Given the description of an element on the screen output the (x, y) to click on. 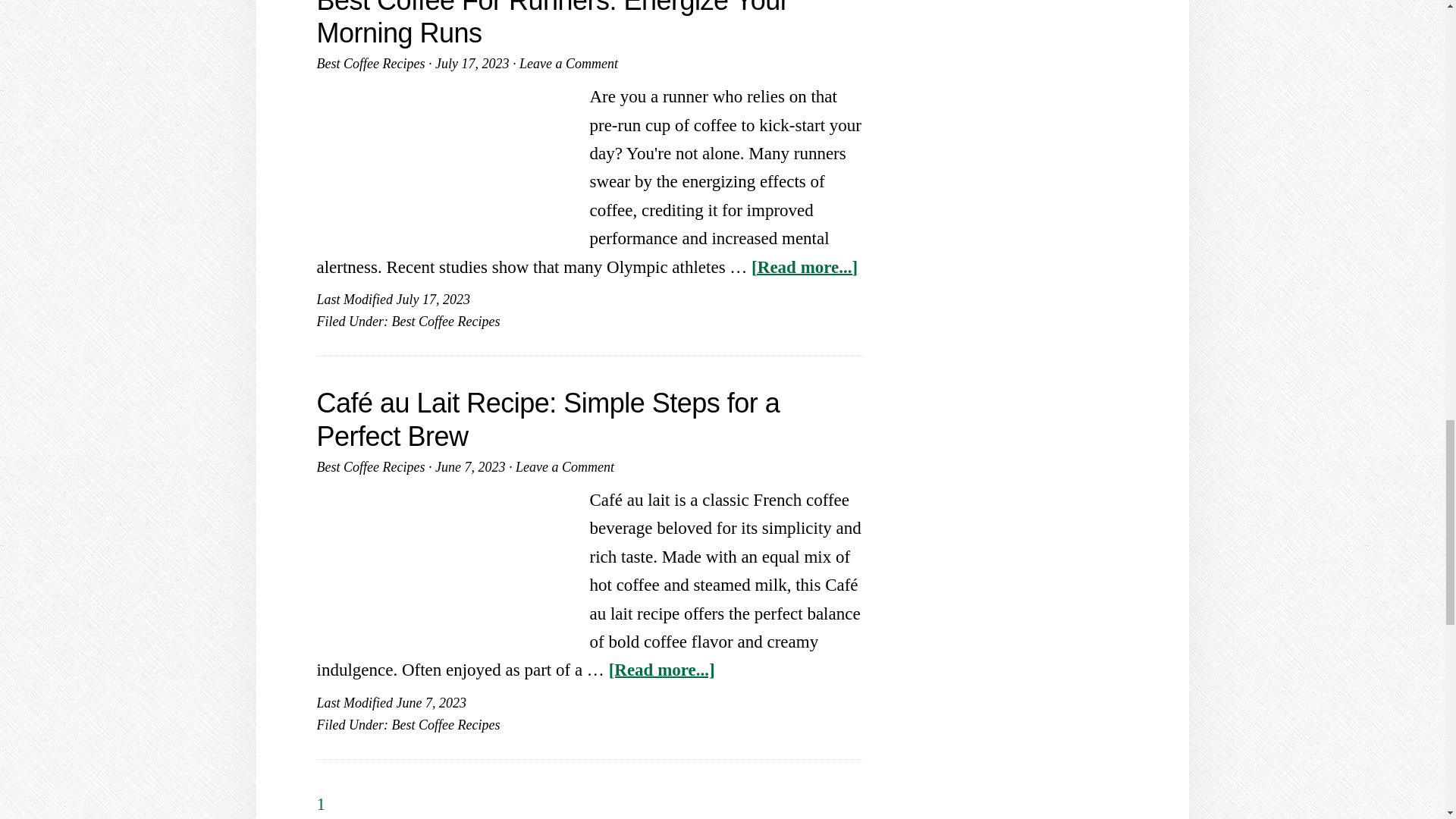
Best Coffee For Runners: Energize Your Morning Runs (553, 24)
Leave a Comment (568, 63)
Best Coffee Recipes (371, 63)
